Given the description of an element on the screen output the (x, y) to click on. 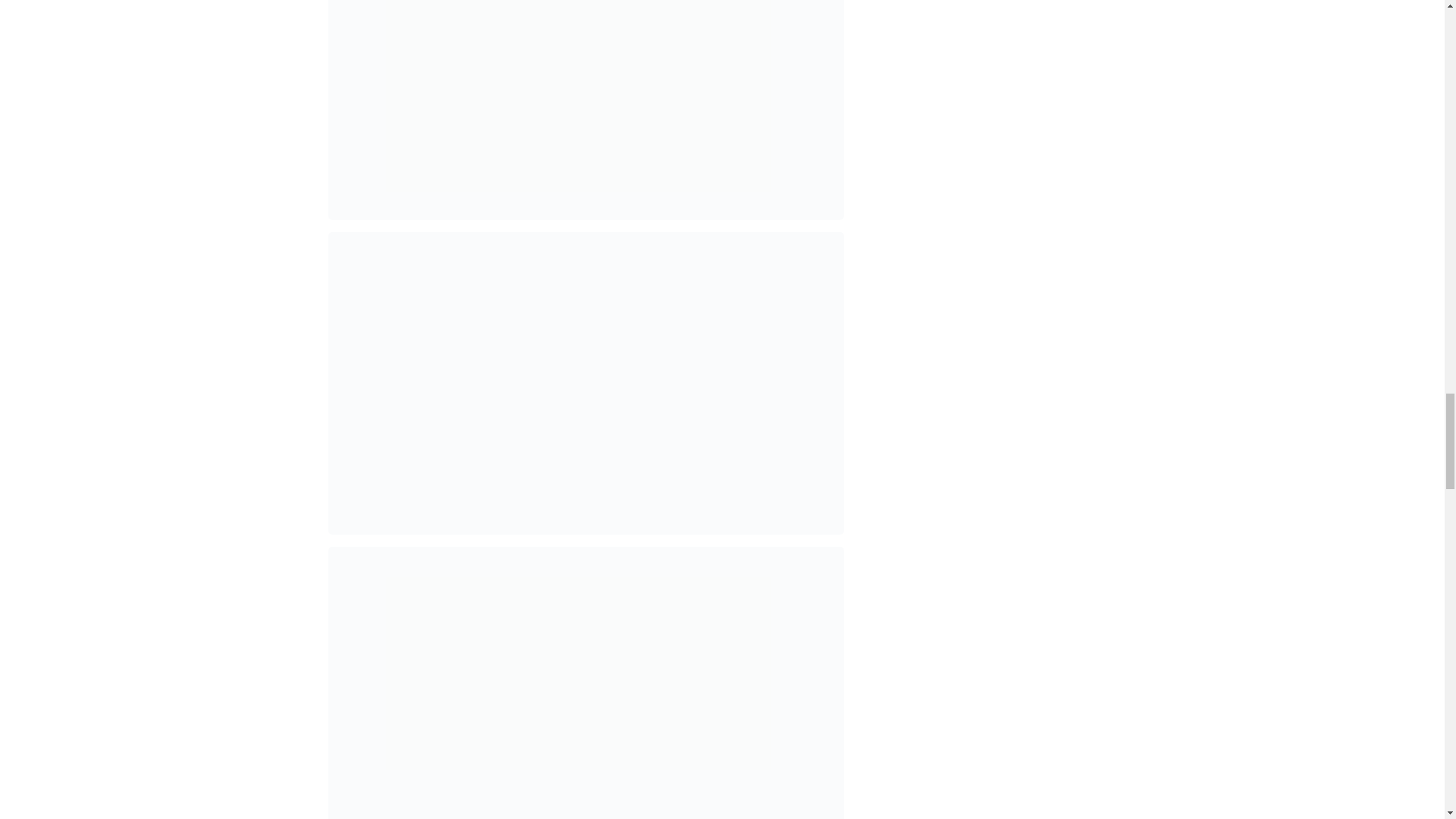
You were born an original. Don't die a copy. - John Mason (585, 110)
